Given the description of an element on the screen output the (x, y) to click on. 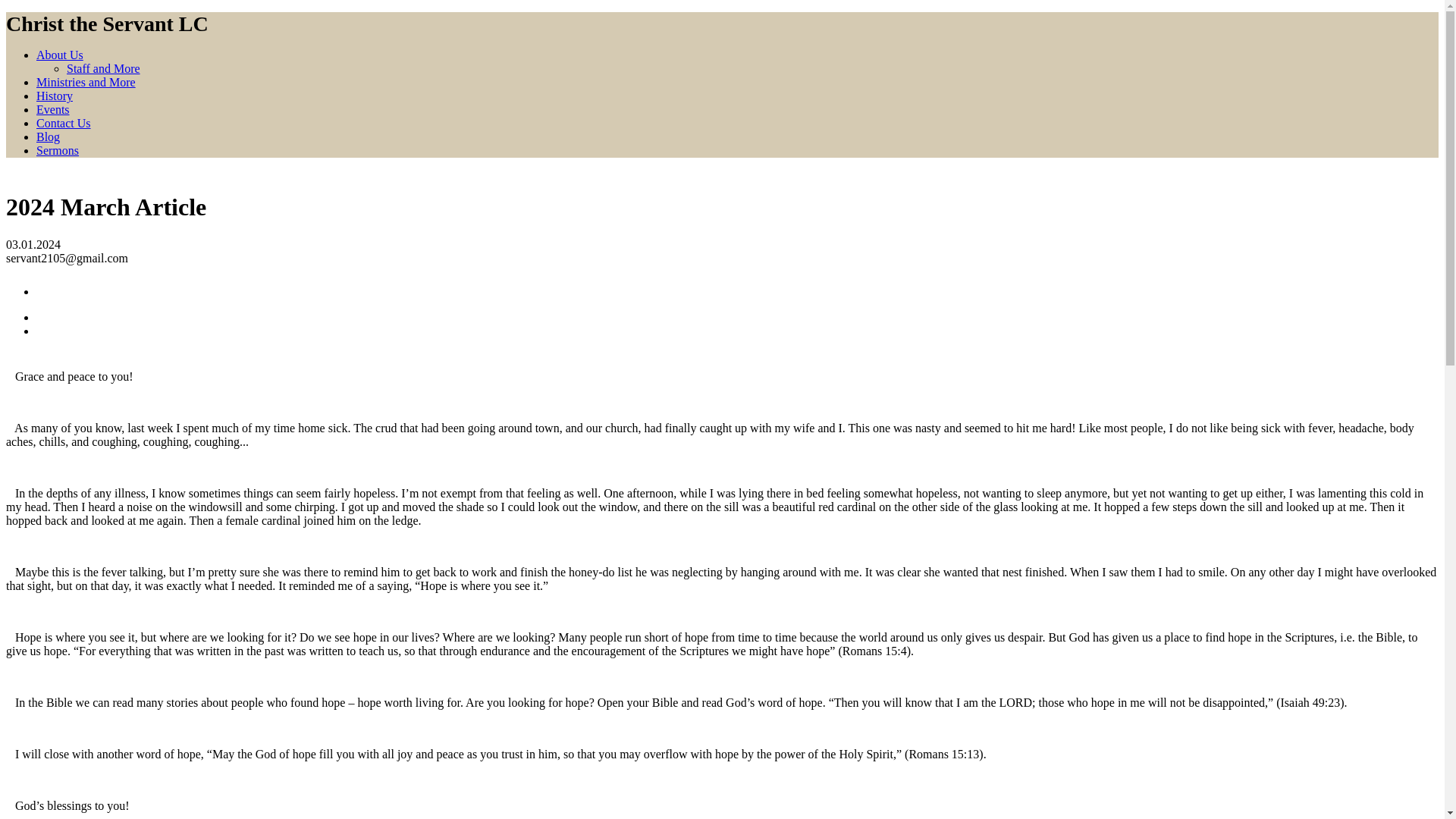
Sermons (57, 150)
Staff and More (102, 68)
Blog (47, 136)
About Us (59, 54)
History (54, 95)
Events (52, 109)
Contact Us (63, 123)
Ministries and More (85, 82)
